Given the description of an element on the screen output the (x, y) to click on. 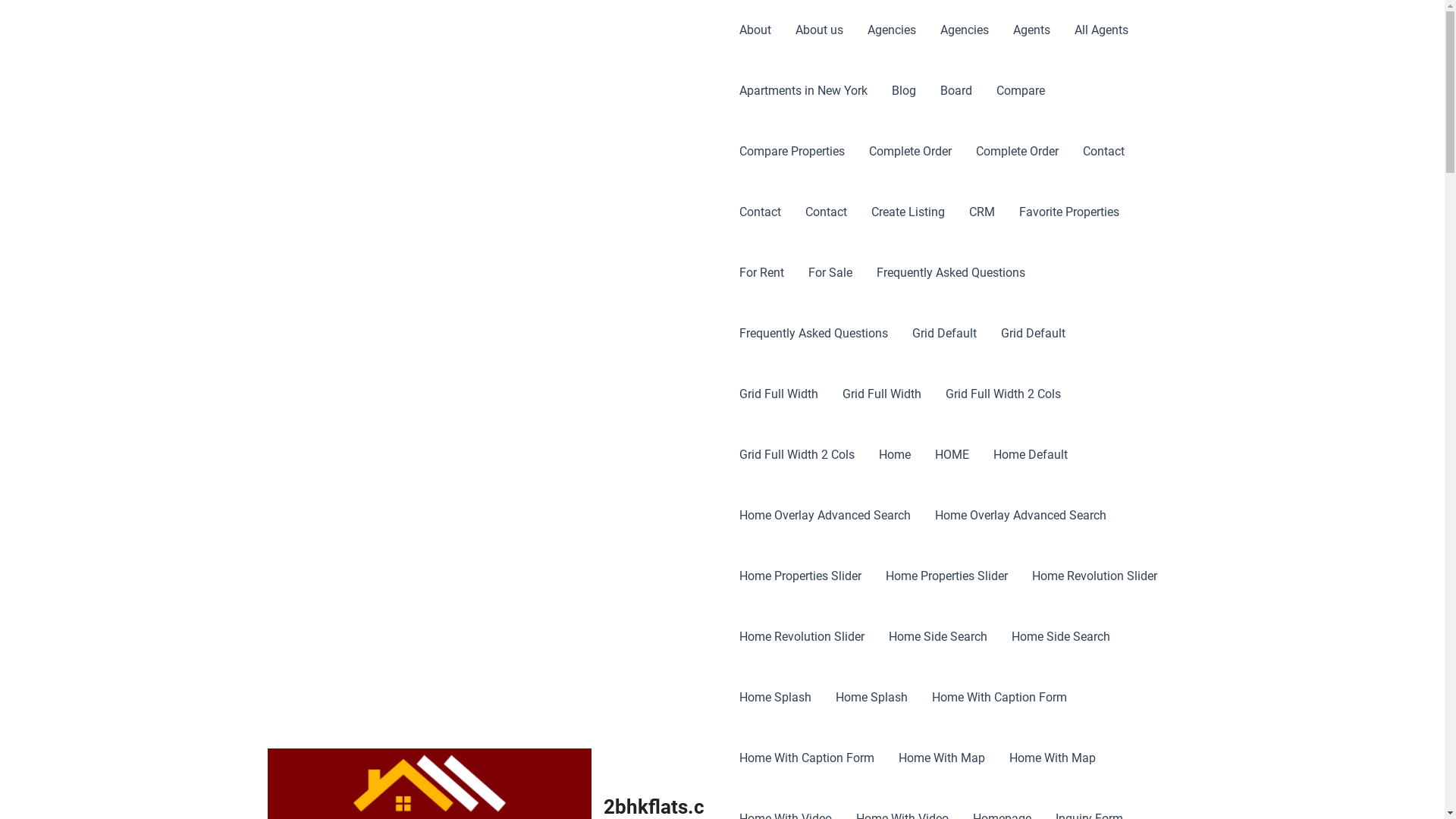
Board Element type: text (956, 90)
Grid Default Element type: text (944, 333)
About us Element type: text (819, 30)
Home With Caption Form Element type: text (806, 758)
About Element type: text (755, 30)
Grid Full Width 2 Cols Element type: text (796, 454)
Apartments in New York Element type: text (803, 90)
Grid Full Width Element type: text (778, 394)
Contact Element type: text (1103, 151)
Home Properties Slider Element type: text (800, 576)
Home Side Search Element type: text (937, 636)
Home Overlay Advanced Search Element type: text (824, 515)
For Rent Element type: text (761, 272)
Home With Map Element type: text (1052, 758)
Compare Properties Element type: text (791, 151)
Home Overlay Advanced Search Element type: text (1020, 515)
Create Listing Element type: text (908, 212)
Home Splash Element type: text (871, 697)
Grid Default Element type: text (1032, 333)
For Sale Element type: text (830, 272)
Home Default Element type: text (1030, 454)
Agents Element type: text (1031, 30)
HOME Element type: text (951, 454)
Grid Full Width Element type: text (881, 394)
Home Revolution Slider Element type: text (801, 636)
Home Revolution Slider Element type: text (1094, 576)
Agencies Element type: text (964, 30)
Contact Element type: text (826, 212)
Contact Element type: text (760, 212)
Compare Element type: text (1020, 90)
Frequently Asked Questions Element type: text (950, 272)
Complete Order Element type: text (909, 151)
Home Side Search Element type: text (1060, 636)
Frequently Asked Questions Element type: text (813, 333)
Home With Map Element type: text (941, 758)
Complete Order Element type: text (1016, 151)
Blog Element type: text (903, 90)
CRM Element type: text (982, 212)
All Agents Element type: text (1101, 30)
Favorite Properties Element type: text (1069, 212)
Agencies Element type: text (891, 30)
Grid Full Width 2 Cols Element type: text (1003, 394)
Home Element type: text (894, 454)
Home With Caption Form Element type: text (999, 697)
Home Properties Slider Element type: text (946, 576)
Home Splash Element type: text (775, 697)
